Given the description of an element on the screen output the (x, y) to click on. 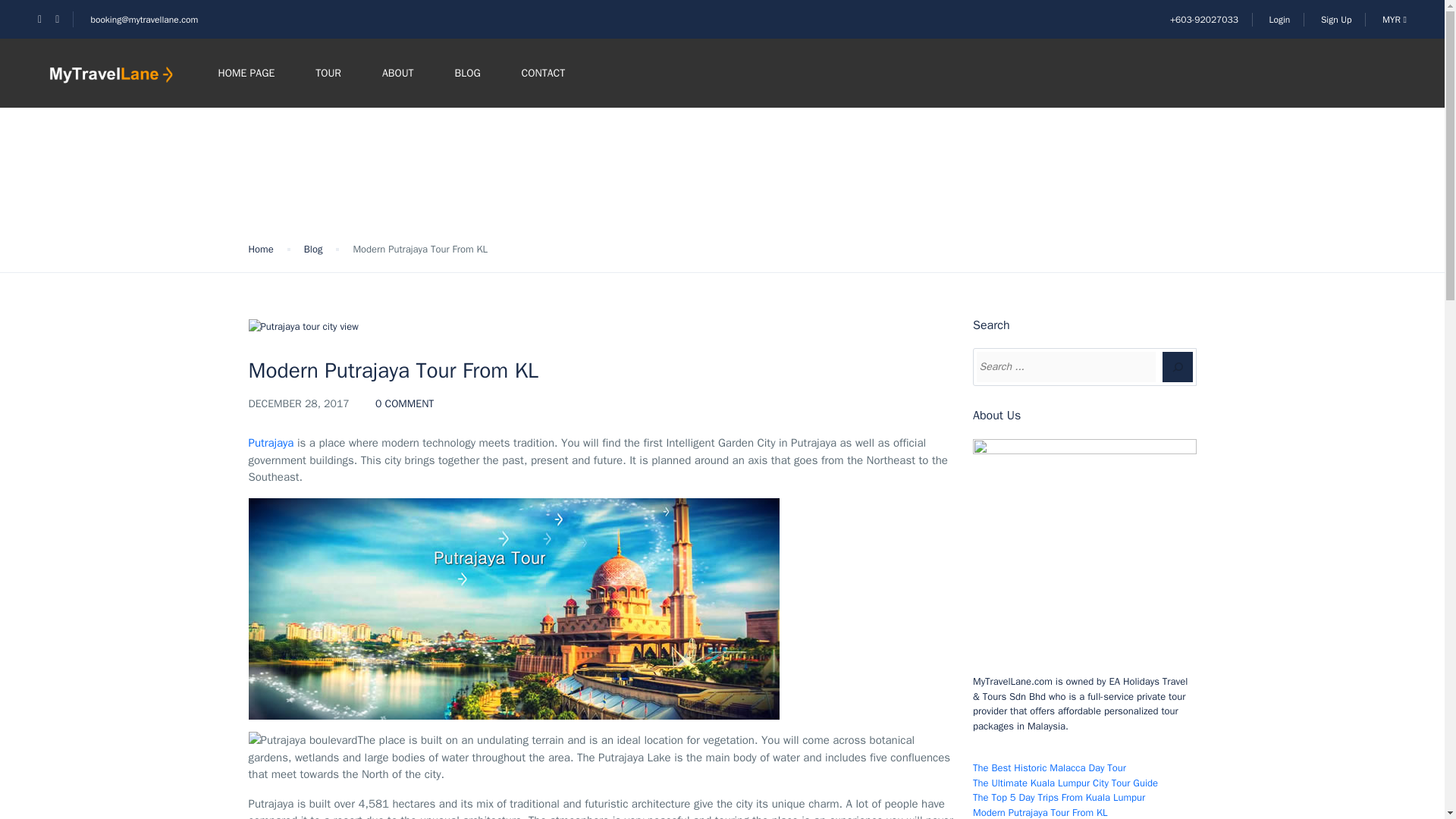
The Best Historic Malacca Day Tour (1048, 767)
TOUR (328, 72)
Blog (313, 248)
Blog (287, 352)
The Ultimate Kuala Lumpur City Tour Guide (1064, 782)
Sign Up (1336, 19)
CONTACT (543, 72)
The Top 5 Day Trips From Kuala Lumpur (1058, 797)
Login (1279, 19)
Putrajaya (271, 442)
